Given the description of an element on the screen output the (x, y) to click on. 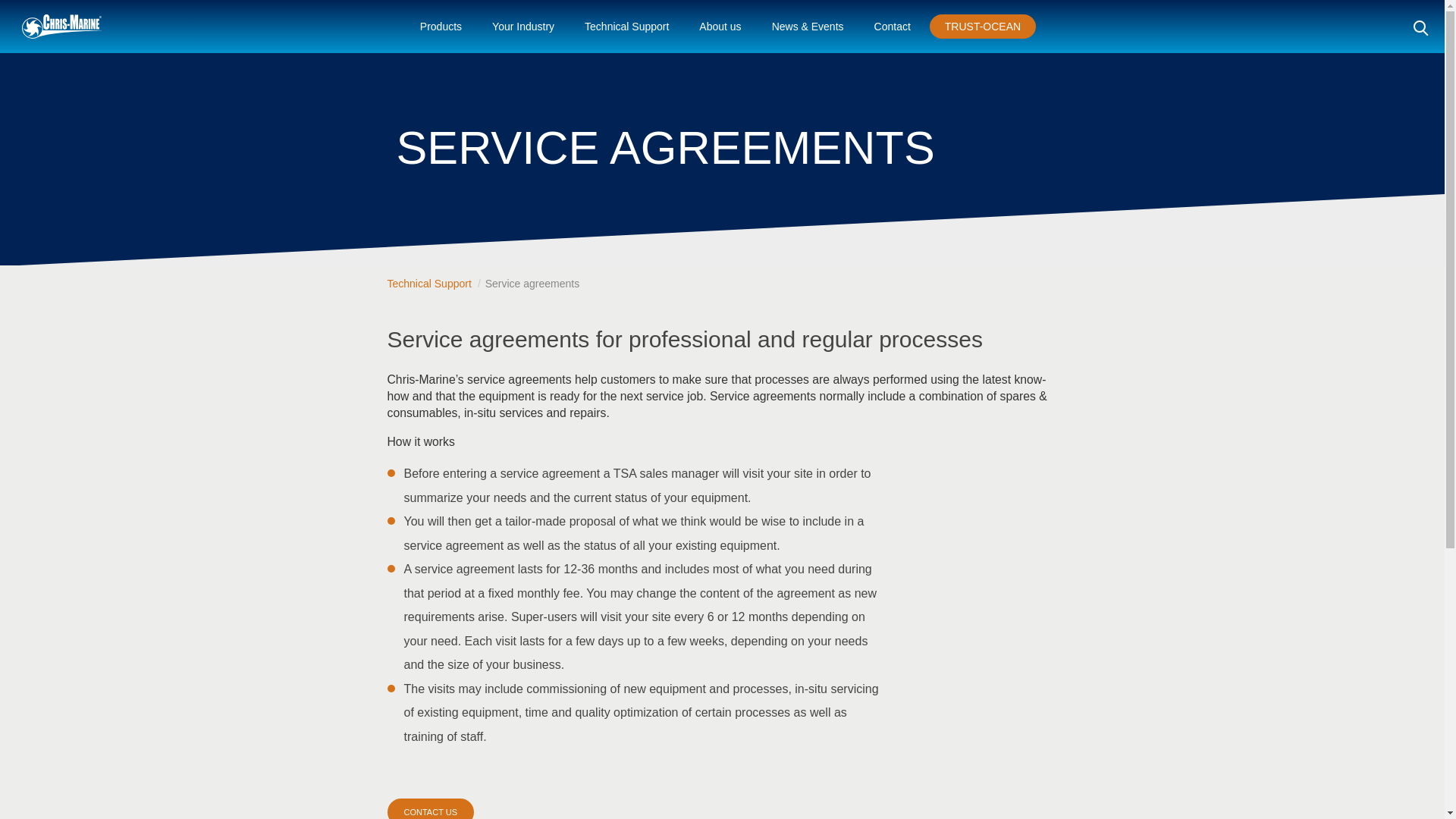
Products (440, 26)
Contact (892, 26)
Your Industry (523, 26)
About us (719, 26)
Technical Support (626, 26)
